Given the description of an element on the screen output the (x, y) to click on. 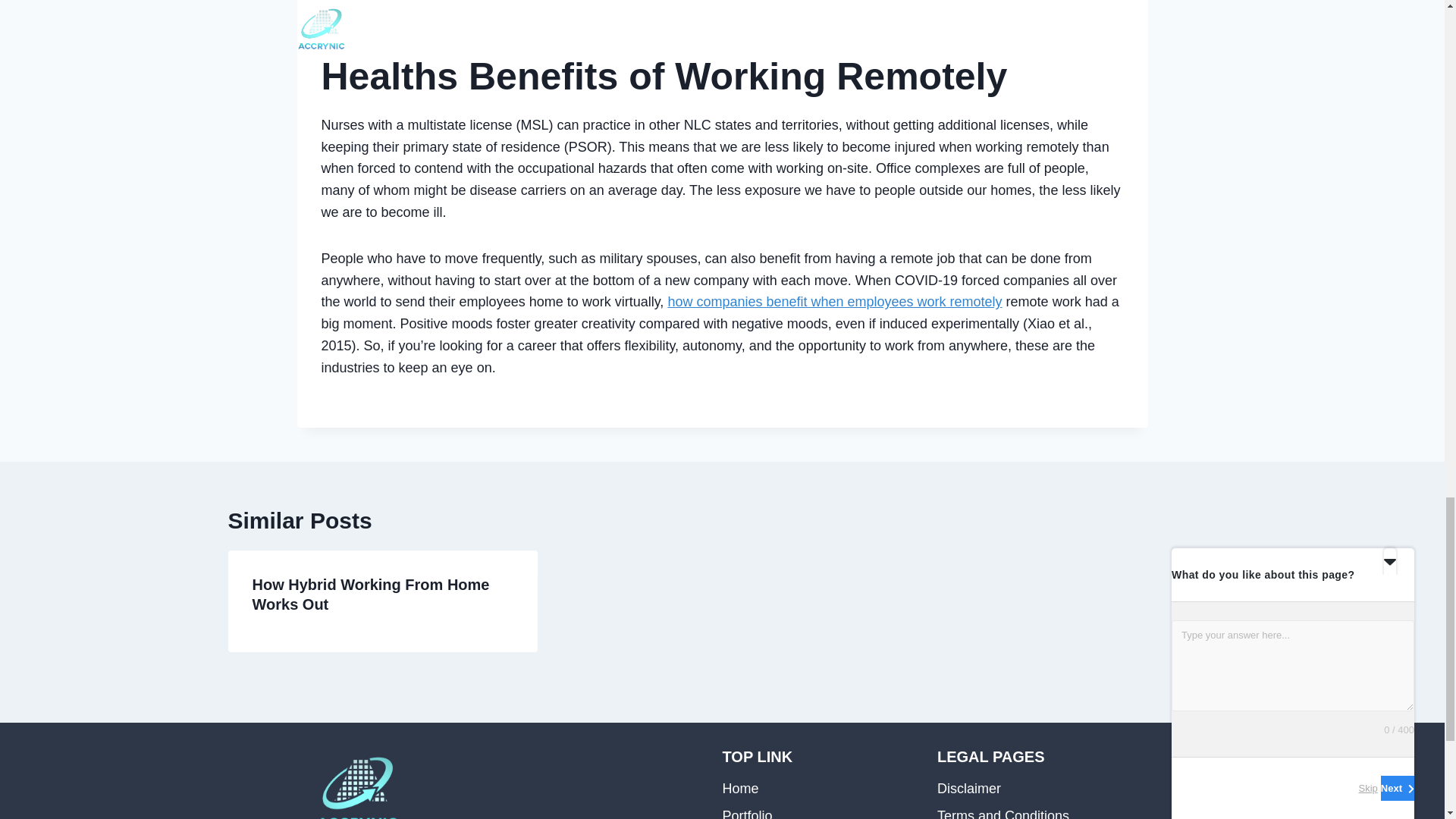
Portfolio (818, 811)
Home (818, 789)
Disclaimer (1033, 789)
How Hybrid Working From Home Works Out (370, 594)
how companies benefit when employees work remotely (833, 301)
Terms and Conditions (1033, 811)
